Given the description of an element on the screen output the (x, y) to click on. 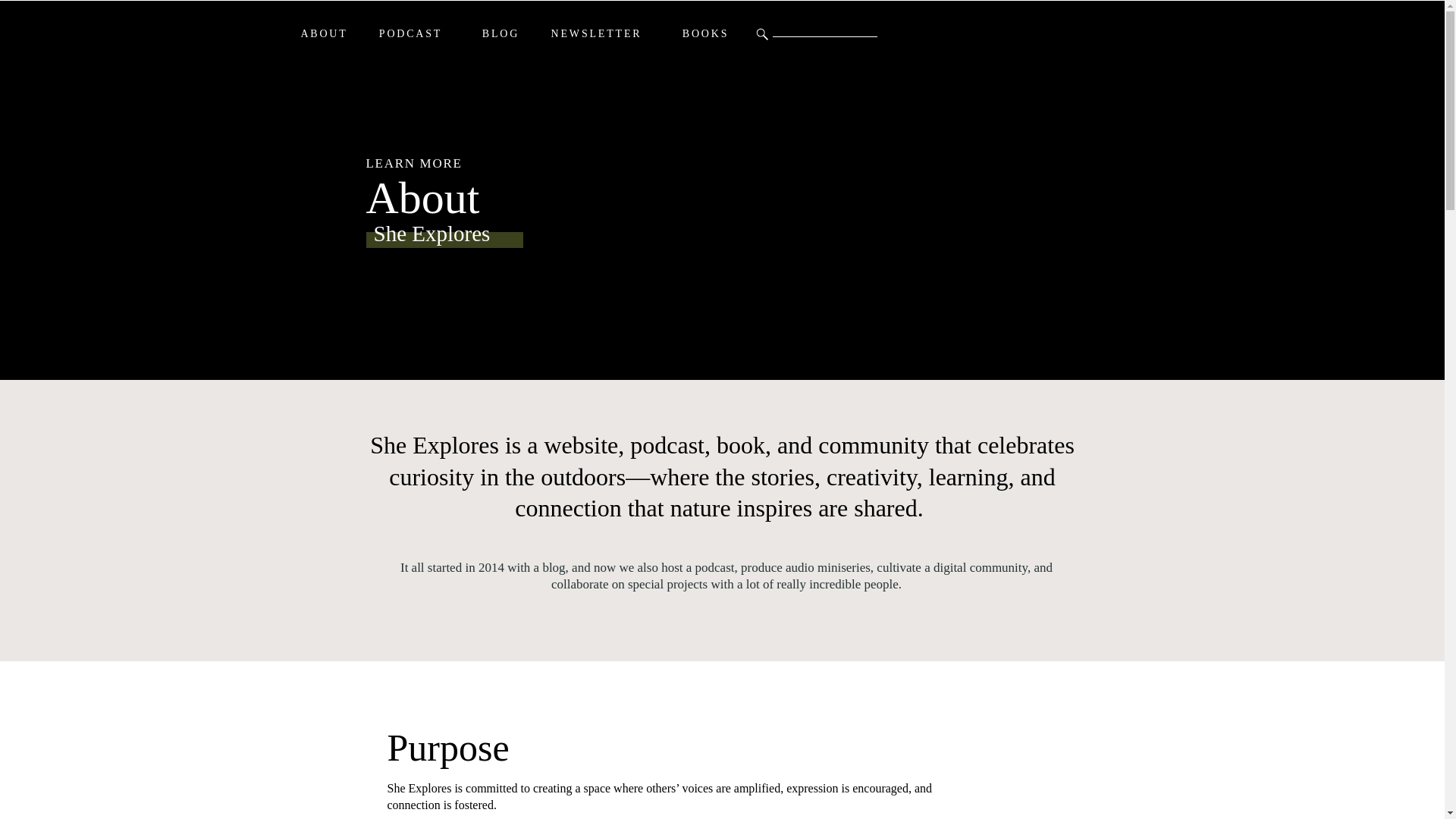
PODCAST (410, 34)
NEWSLETTER (596, 34)
BOOKS (705, 34)
BLOG (500, 34)
ABOUT (324, 34)
